Given the description of an element on the screen output the (x, y) to click on. 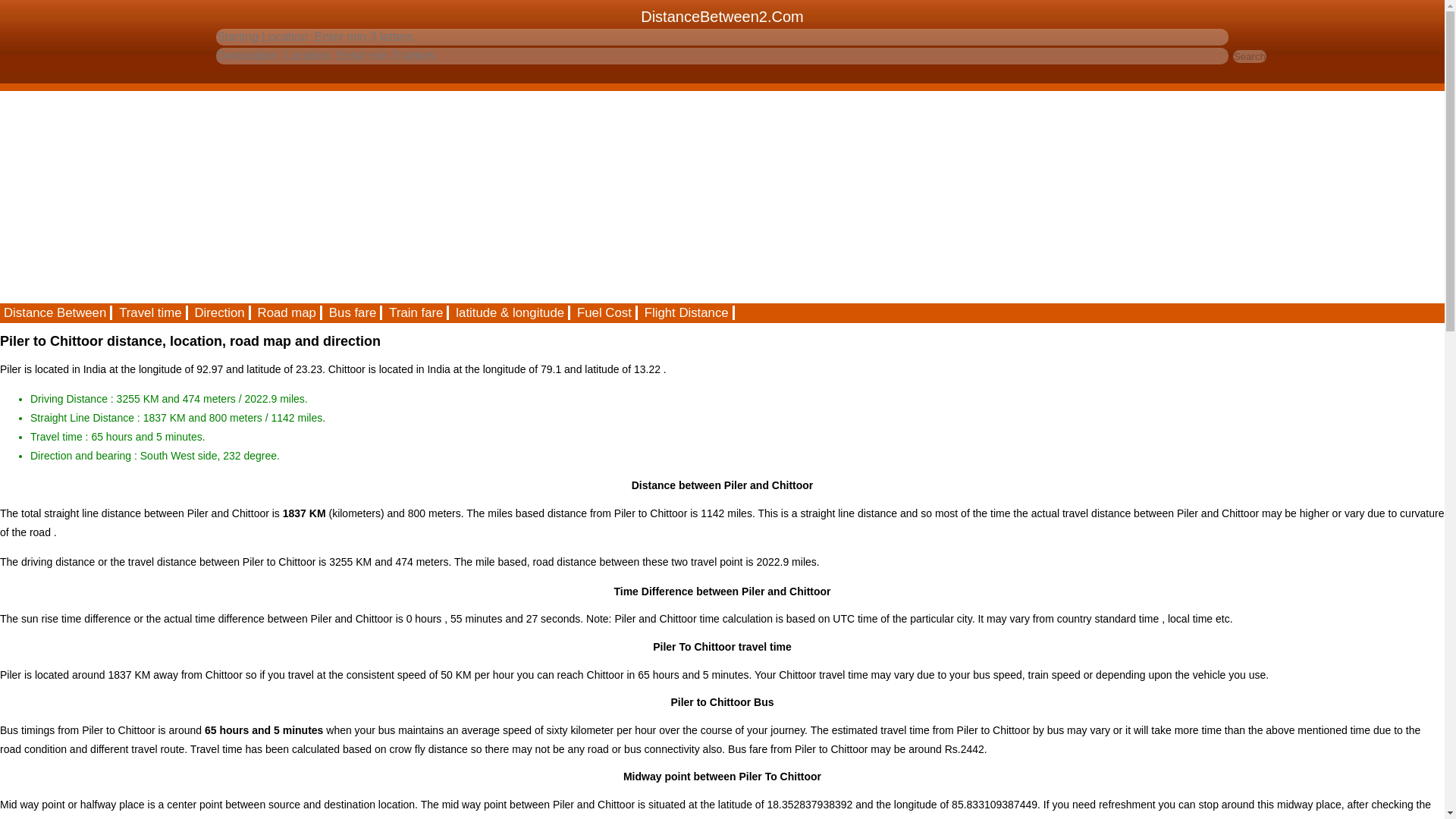
Road map (287, 312)
Direction (220, 312)
Distance Between (56, 312)
Search (1249, 56)
Fuel Cost (605, 312)
Flight Distance (687, 312)
Train fare (416, 312)
Bus fare (353, 312)
Search (1249, 56)
Travel time (151, 312)
driving direction (220, 312)
